Given the description of an element on the screen output the (x, y) to click on. 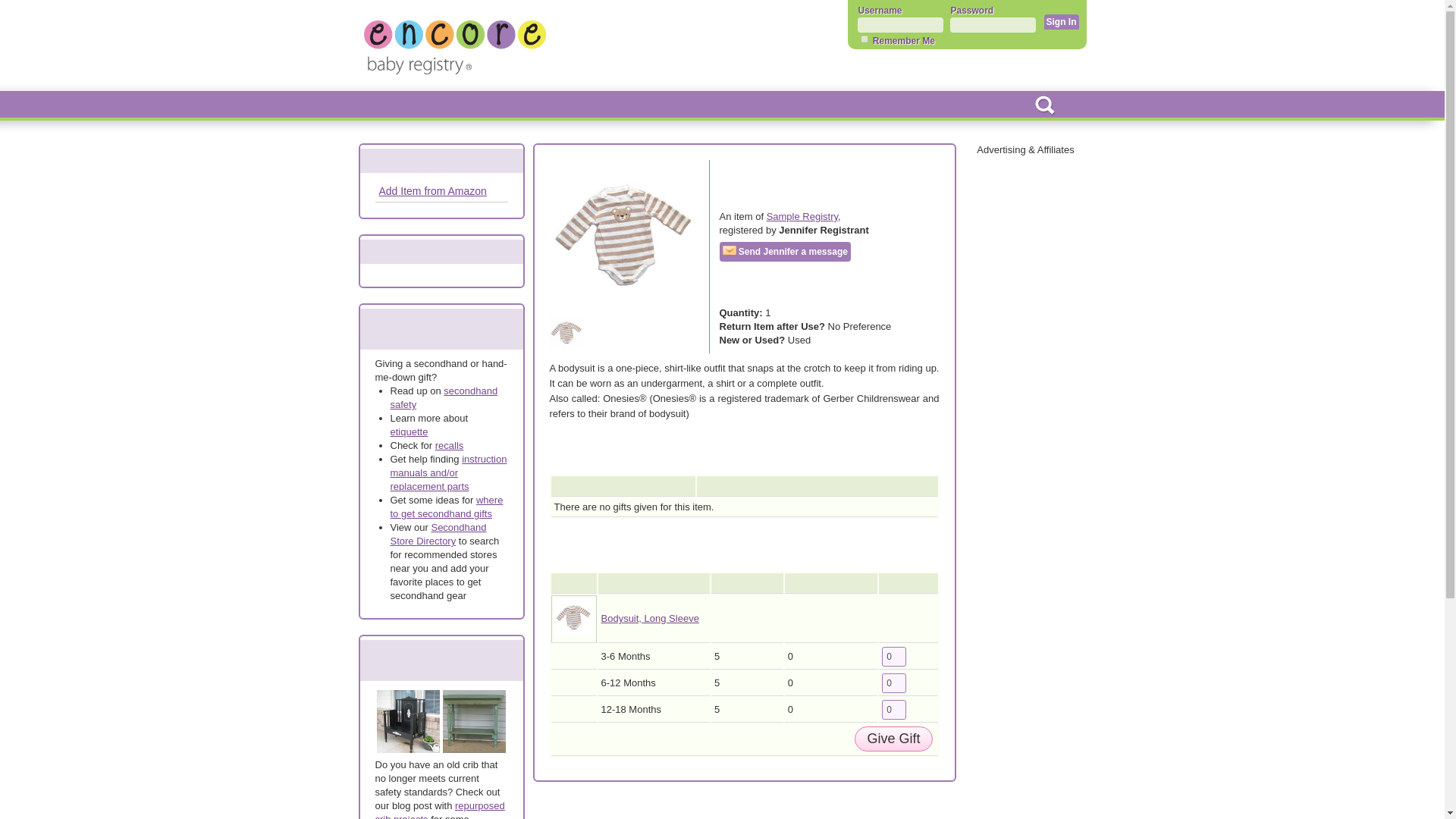
Give Gift (892, 738)
View Sample Registry (683, 105)
Blog (772, 105)
Send Jennifer a message (784, 251)
Sample Registry (802, 215)
Secondhand Store Directory (438, 534)
About (828, 105)
0 (893, 709)
Repurposed Crib Table, My Repurposed Life (473, 721)
Secondhand Scoop (560, 105)
Hand-Me-Down Etiquette (409, 431)
Etc. (880, 105)
forever (863, 39)
Home (385, 105)
